Given the description of an element on the screen output the (x, y) to click on. 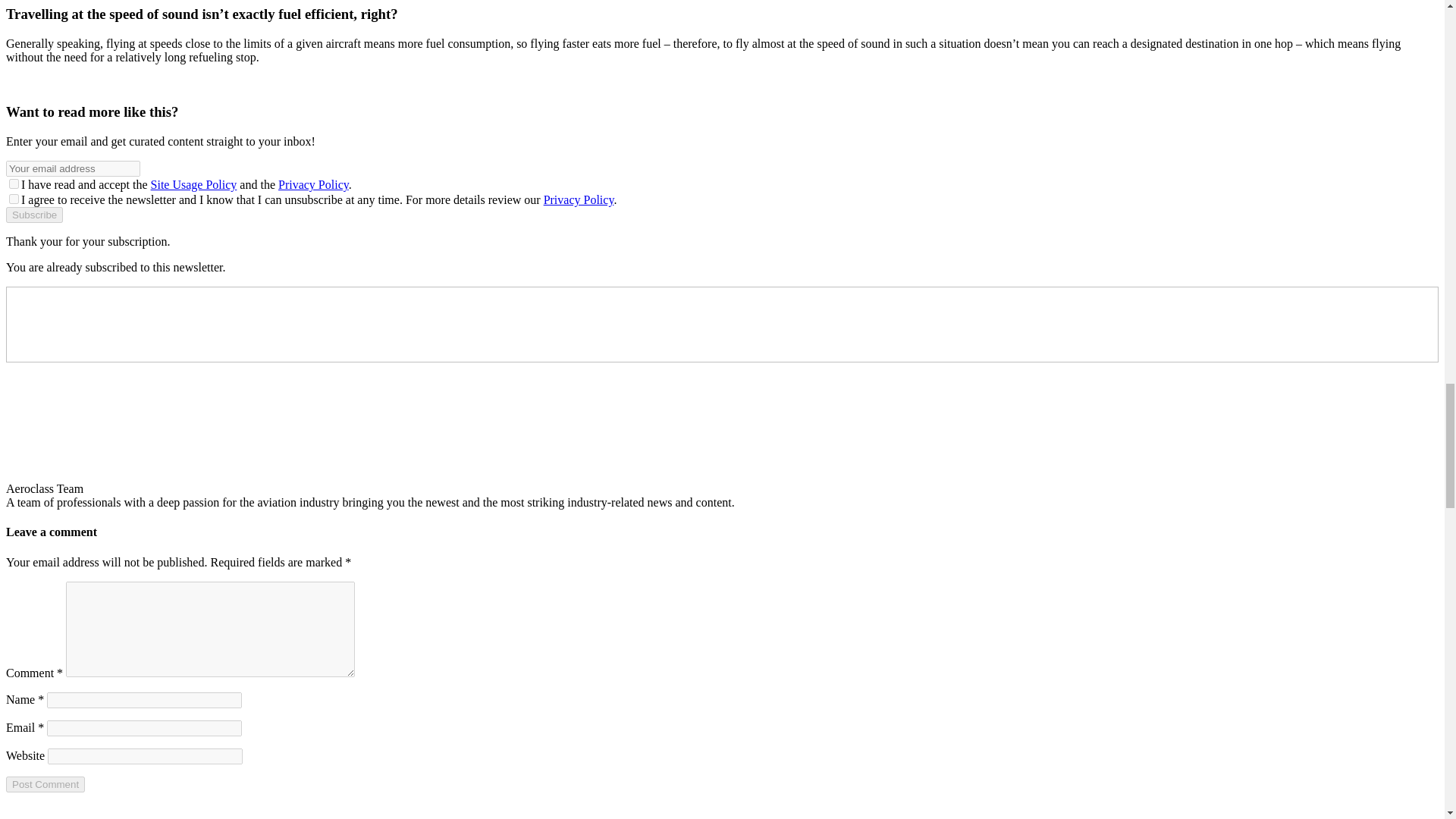
Site Usage Policy (194, 184)
Privacy Policy (313, 184)
Subscribe (33, 214)
Privacy Policy (578, 199)
Post Comment (44, 784)
